Given the description of an element on the screen output the (x, y) to click on. 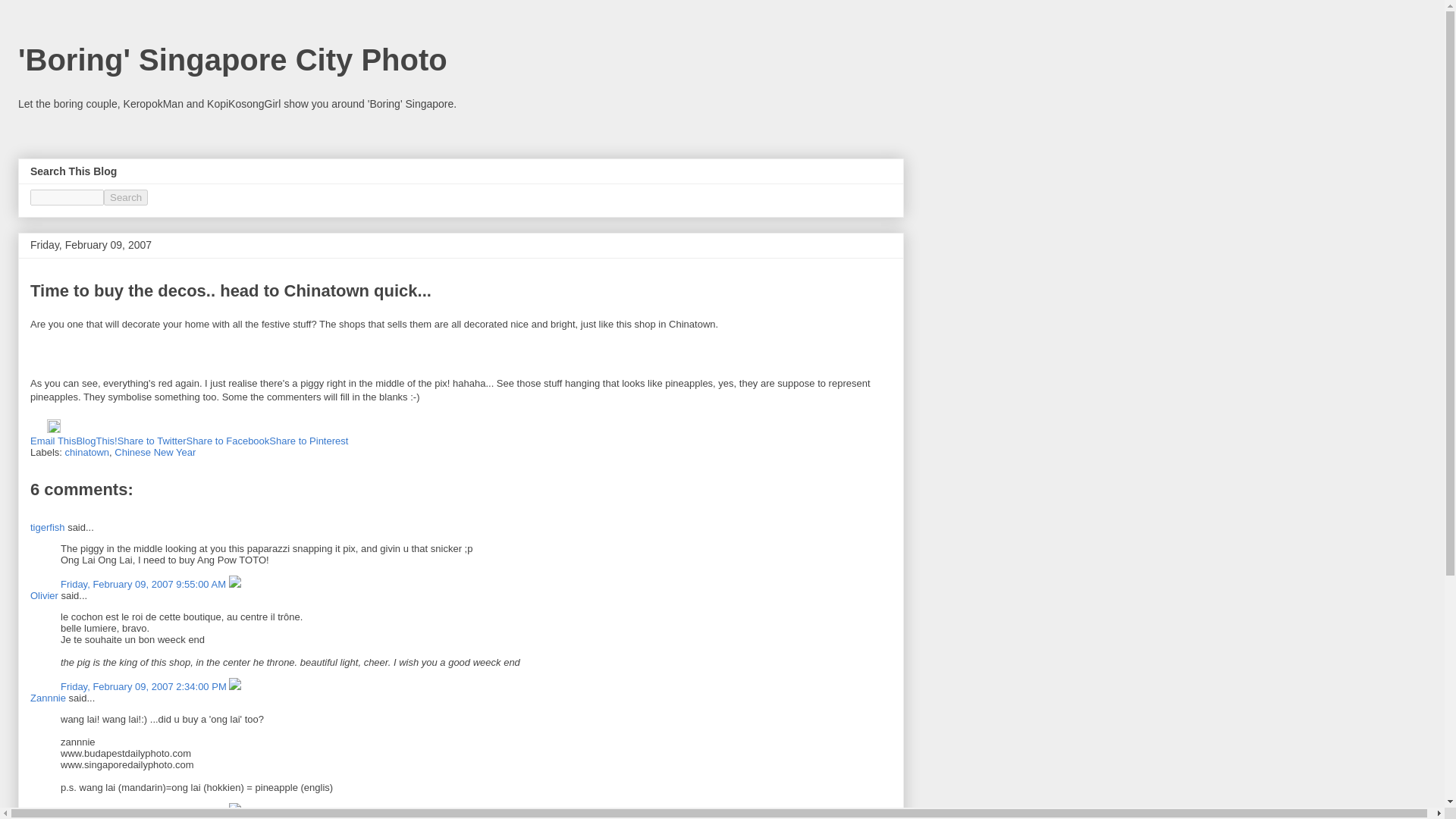
Email This (52, 440)
search (66, 197)
'Boring' Singapore City Photo (231, 59)
Share to Pinterest (308, 440)
BlogThis! (95, 440)
Chinese New Year (155, 451)
Search (125, 197)
Share to Facebook (227, 440)
Share to Facebook (227, 440)
comment permalink (144, 583)
